Given the description of an element on the screen output the (x, y) to click on. 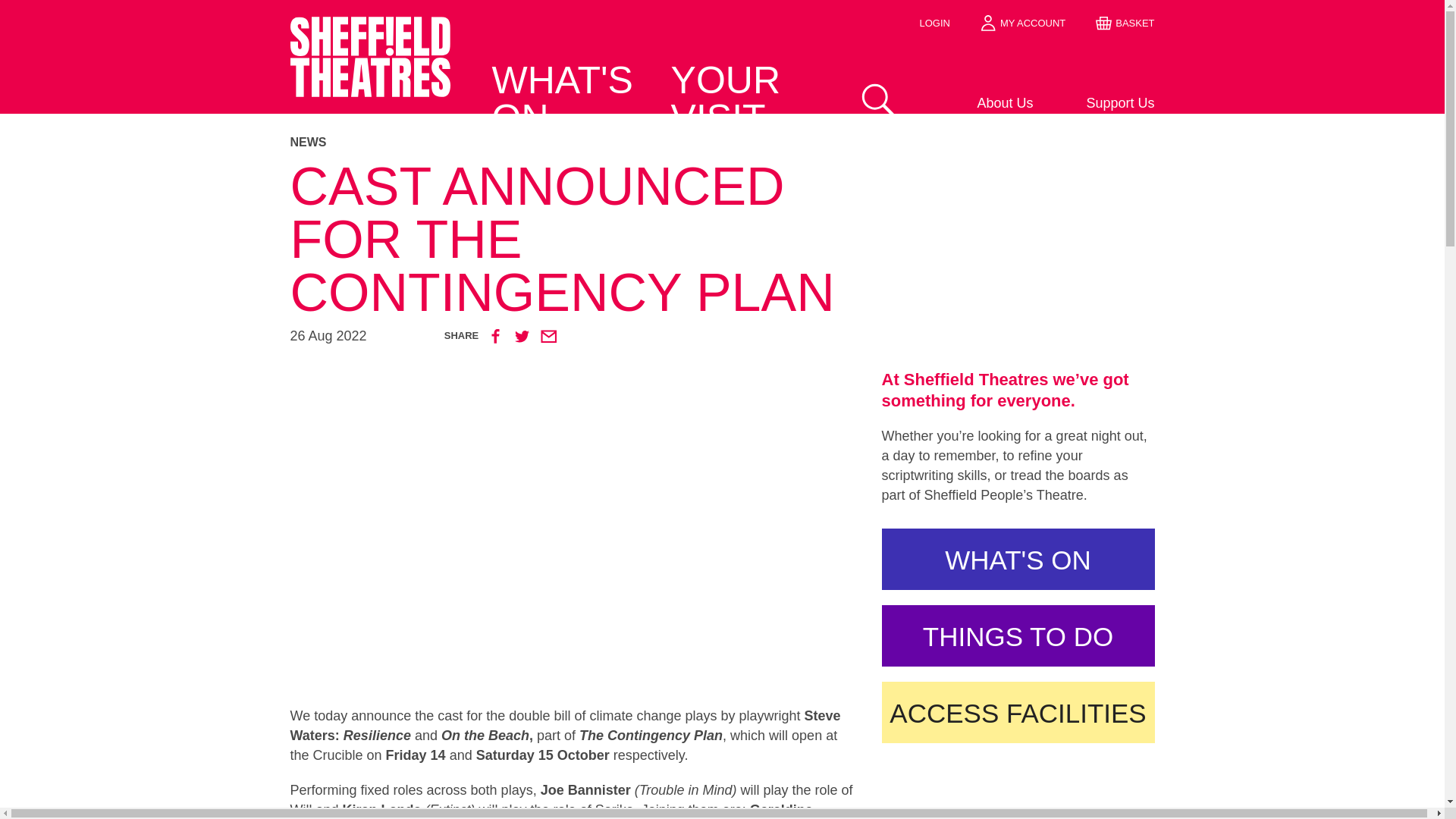
For Artists (1097, 127)
THINGS TO DO (1017, 635)
ACCESS FACILITIES (1017, 711)
Share via Email (547, 335)
WHAT'S ON (1017, 558)
Share to Twitter (521, 335)
NEWS (721, 142)
YOUR VISIT (749, 99)
SHEFFIELD THEATRE (369, 83)
BASKET (1125, 23)
WHAT'S ON (567, 99)
Support Us (1097, 103)
Get Involved (975, 127)
About Us (975, 103)
MY ACCOUNT (1022, 23)
